Given the description of an element on the screen output the (x, y) to click on. 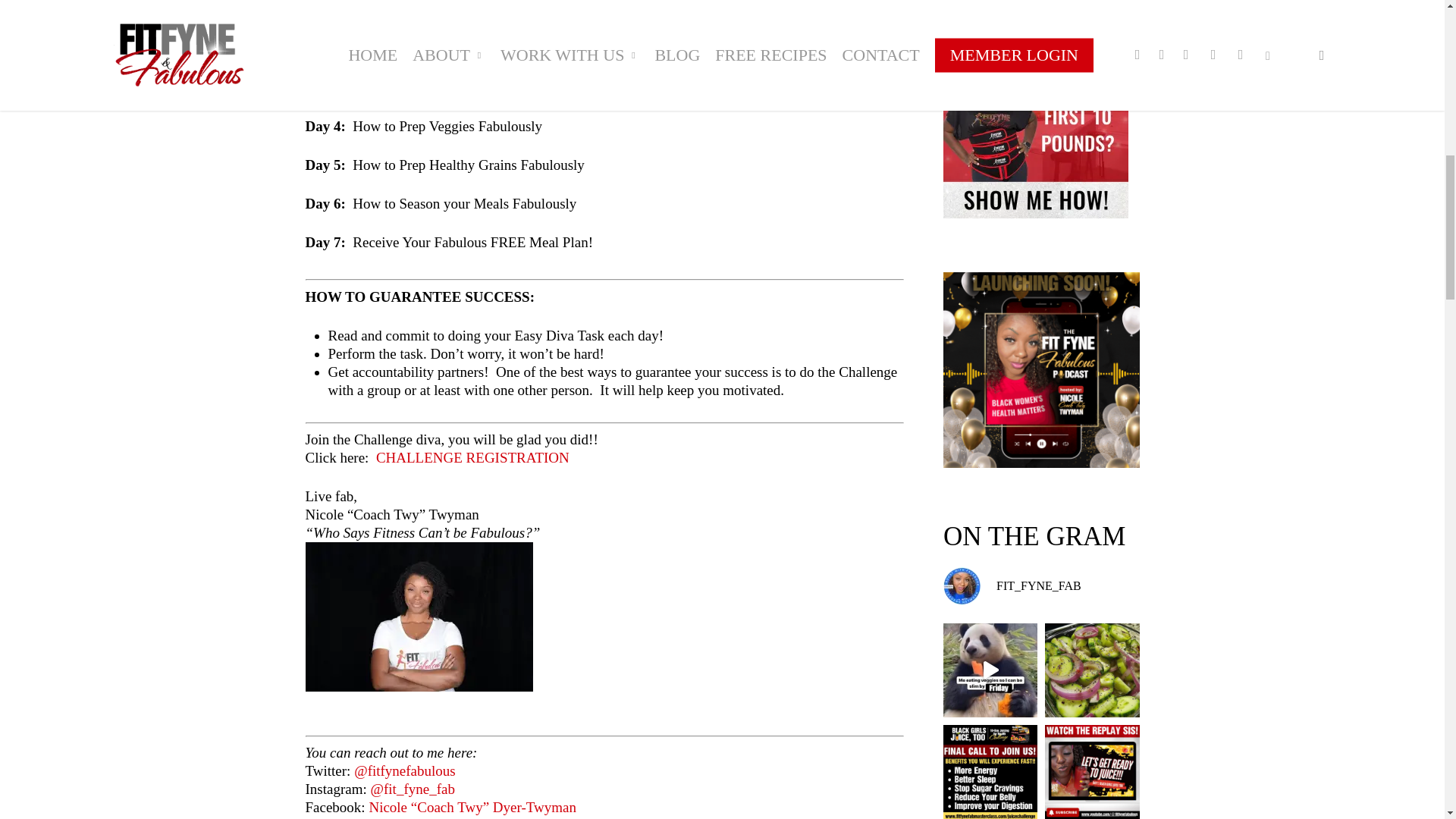
CHALLENGE REGISTRATION (472, 457)
